Given the description of an element on the screen output the (x, y) to click on. 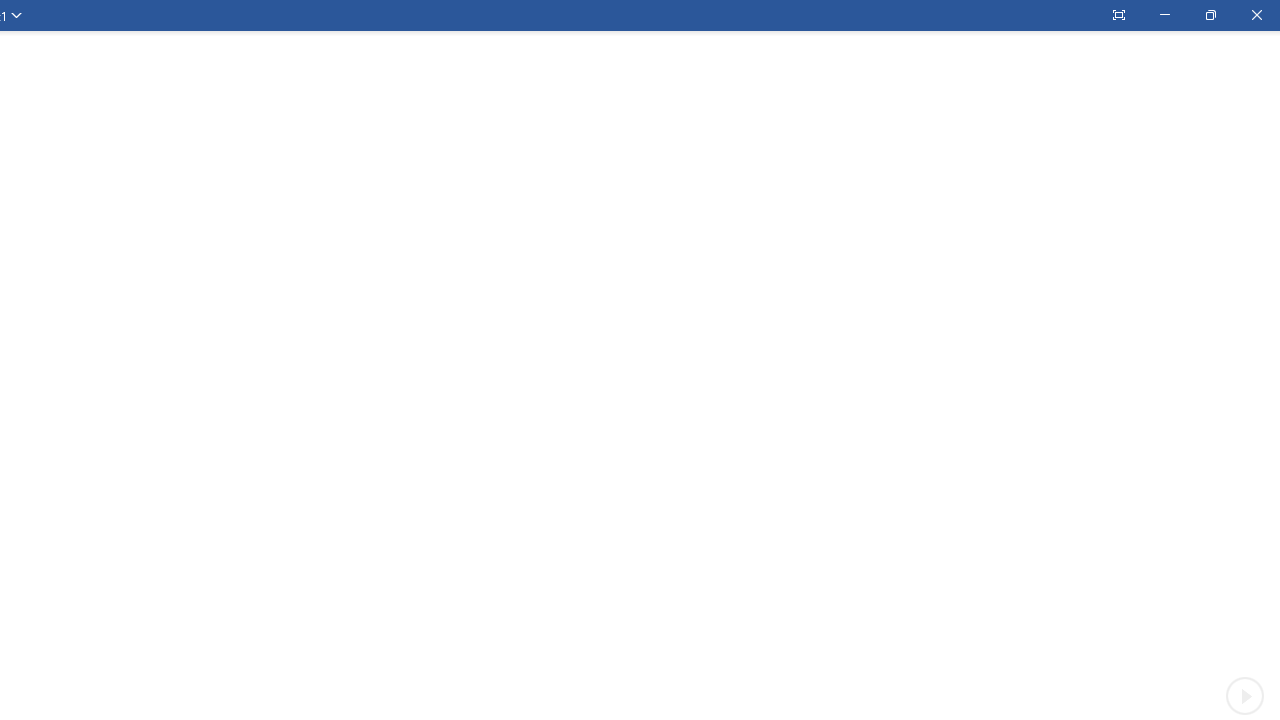
Minimize (1164, 15)
Close (1256, 15)
Restore Down (1210, 15)
Auto-hide Reading Toolbar (1118, 15)
